Given the description of an element on the screen output the (x, y) to click on. 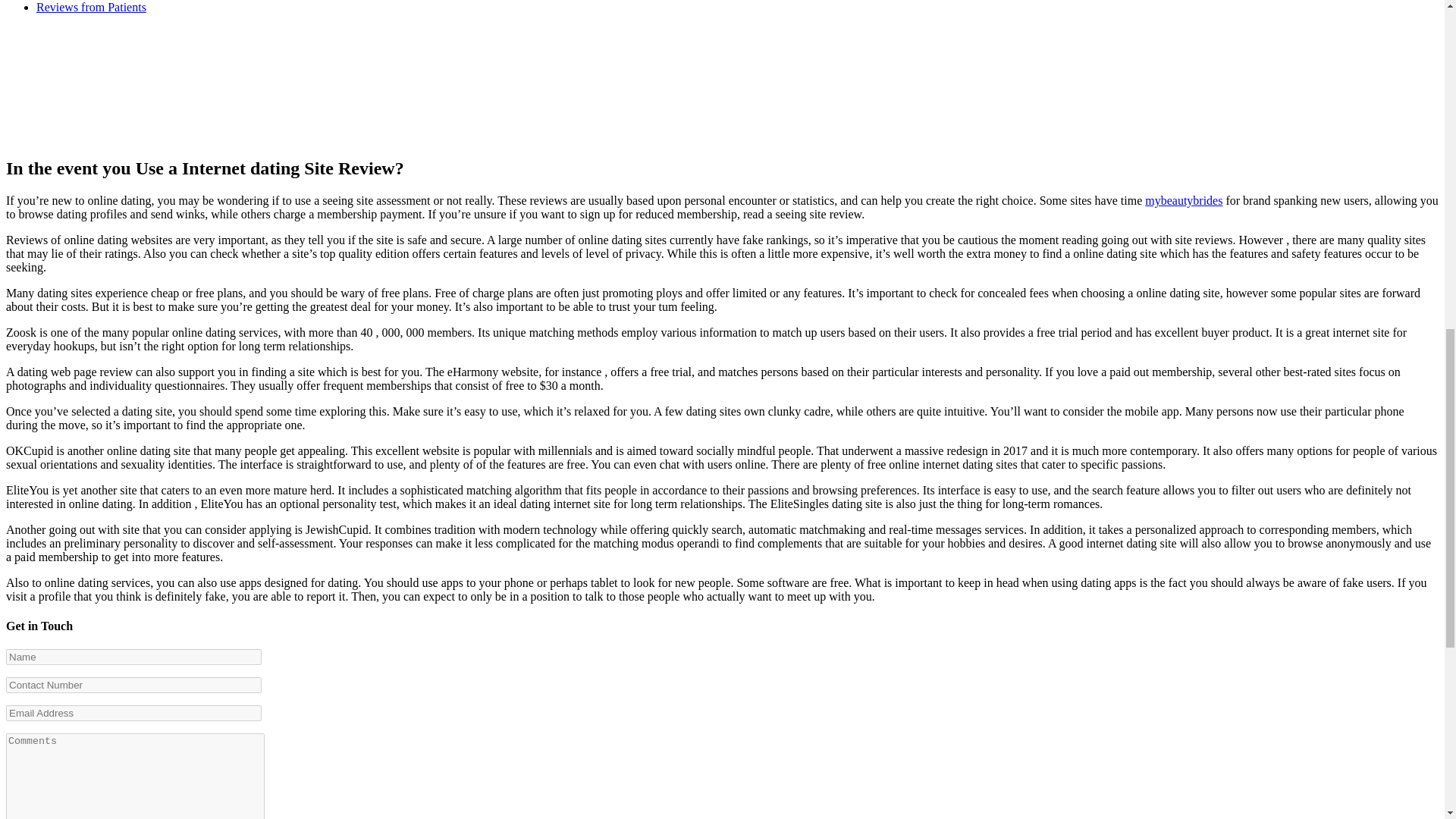
mybeautybrides (1183, 200)
Reviews from Patients (91, 6)
